Given the description of an element on the screen output the (x, y) to click on. 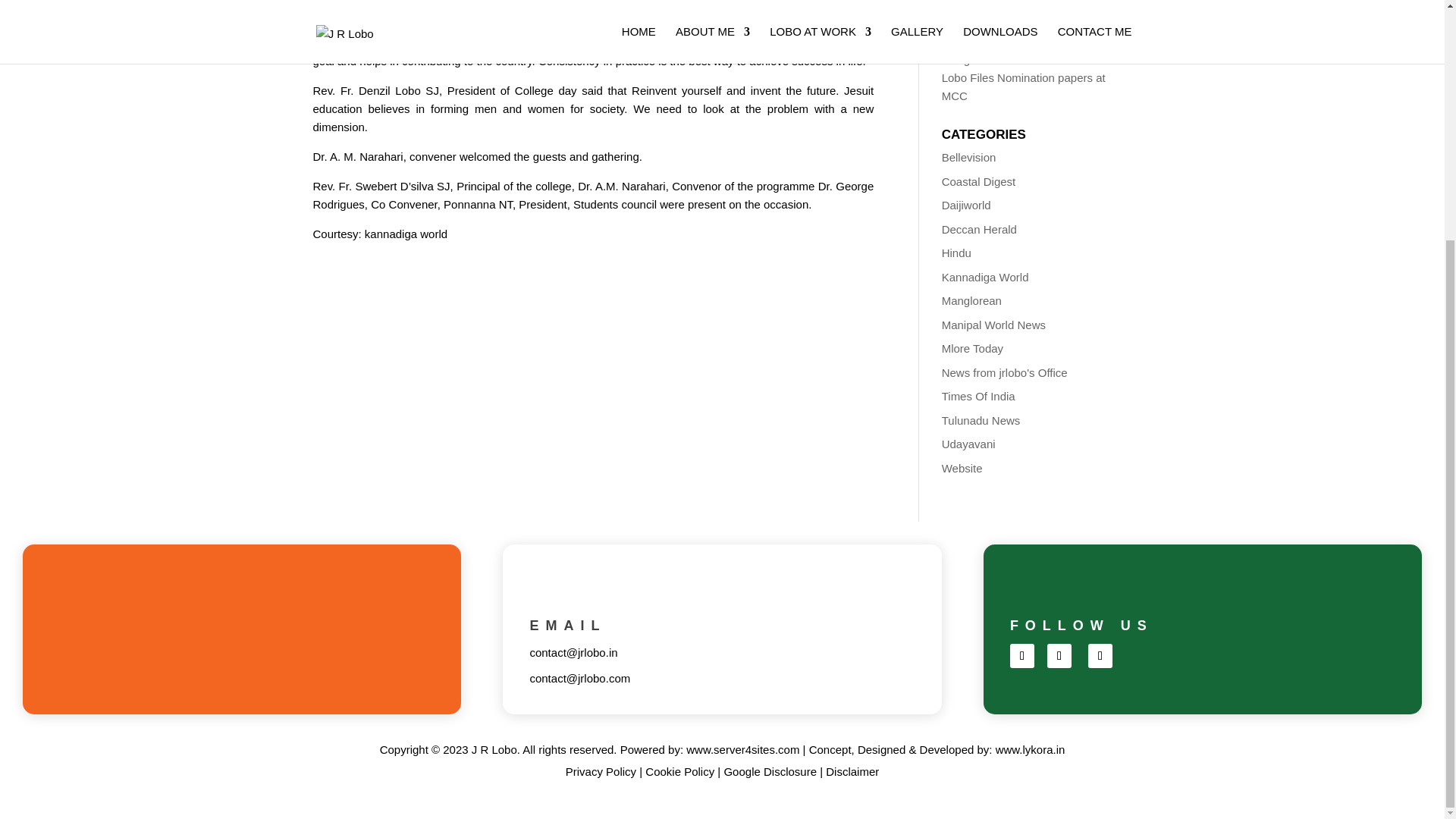
Mlore Today (972, 348)
Bellevision (968, 156)
Manglorean (971, 300)
Daijiworld (966, 205)
Kannadiga World (985, 276)
Times Of India (978, 395)
Manipal World News (993, 324)
Orginal Link (405, 233)
Website (962, 467)
